Given the description of an element on the screen output the (x, y) to click on. 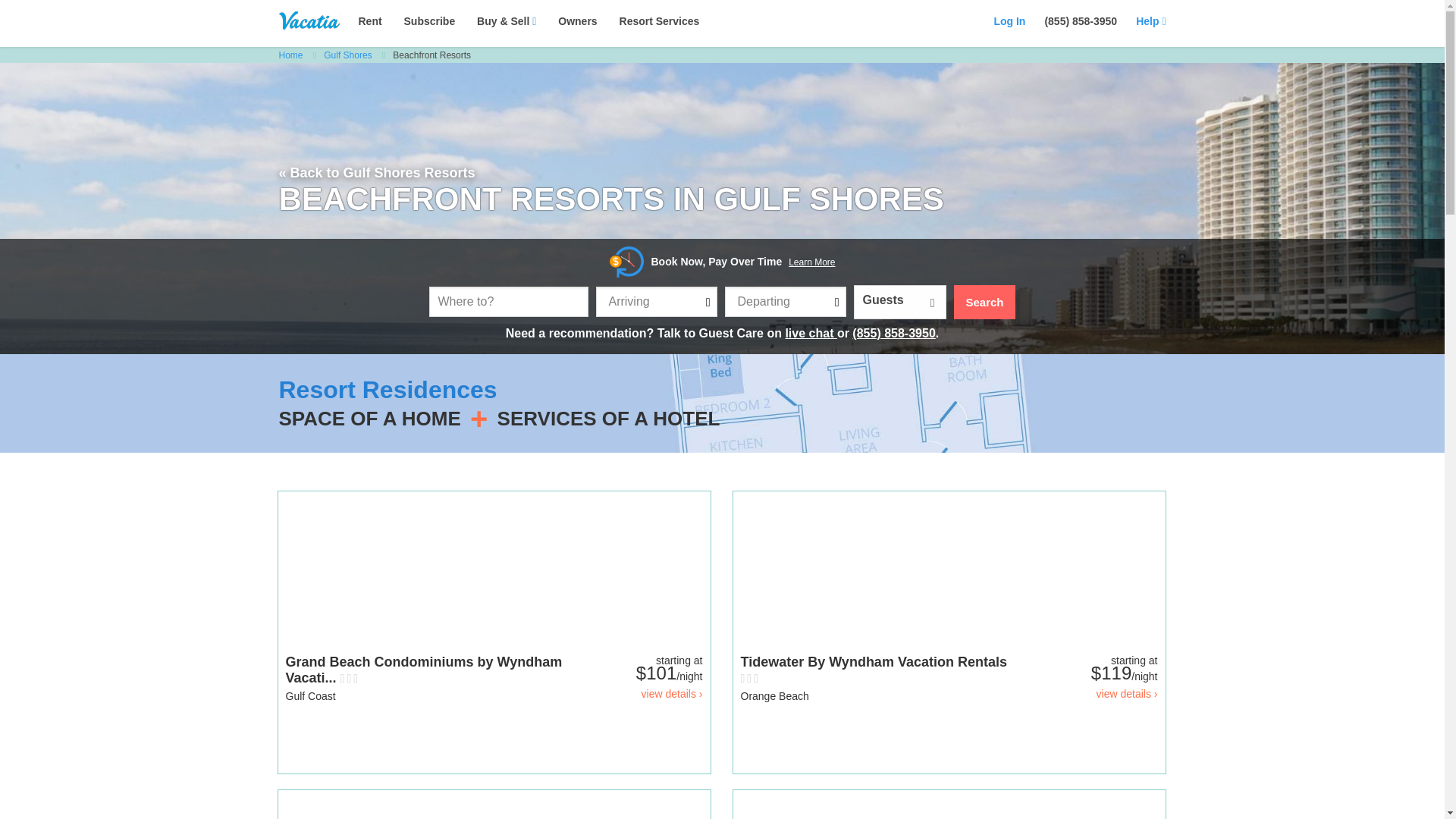
Resort Services (660, 21)
Owners (576, 21)
Help (1150, 21)
Subscribe (429, 21)
Rent (369, 21)
